Given the description of an element on the screen output the (x, y) to click on. 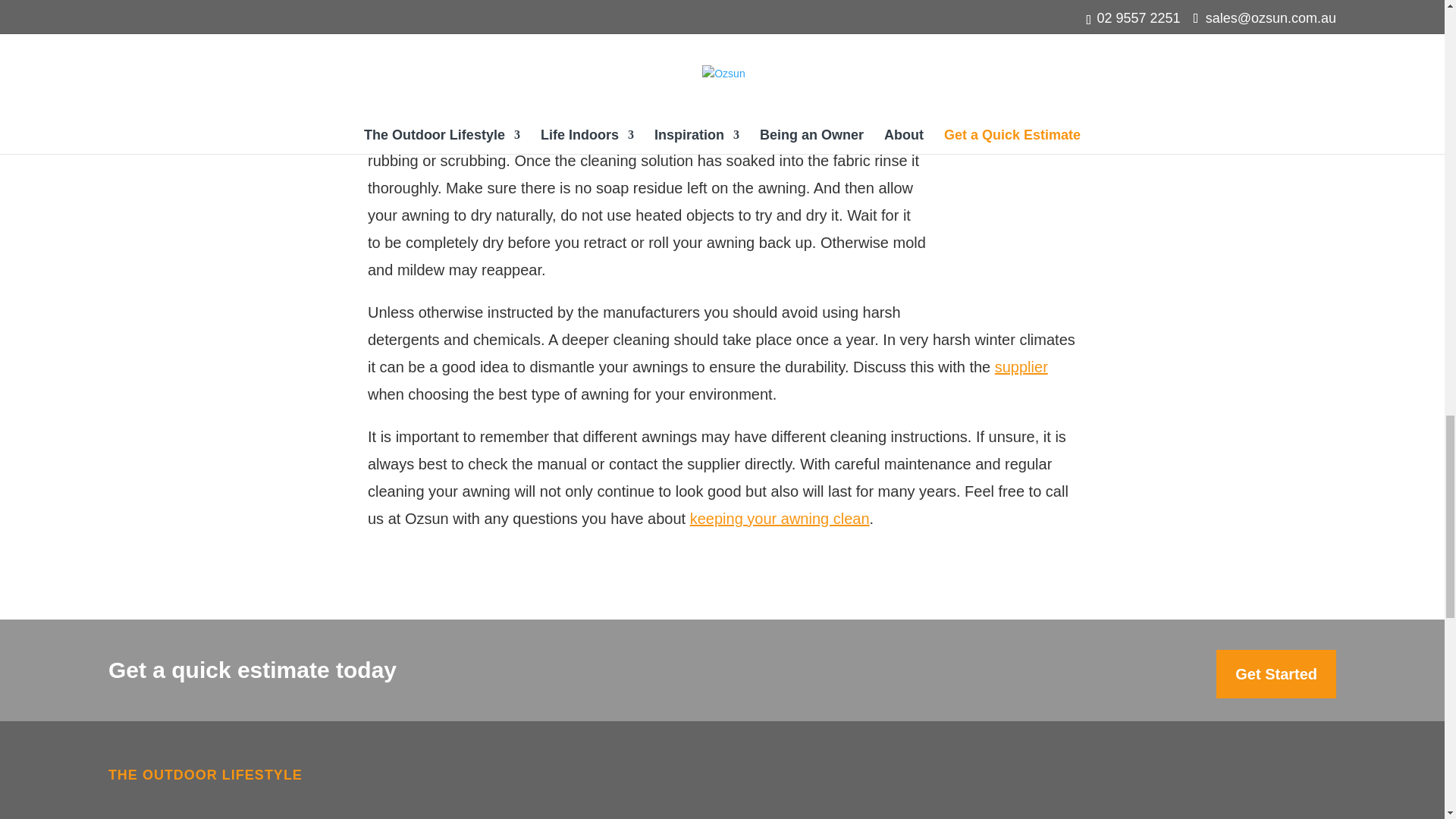
Get Started (1275, 674)
supplier (1021, 366)
keeping your awning clean (779, 518)
